Given the description of an element on the screen output the (x, y) to click on. 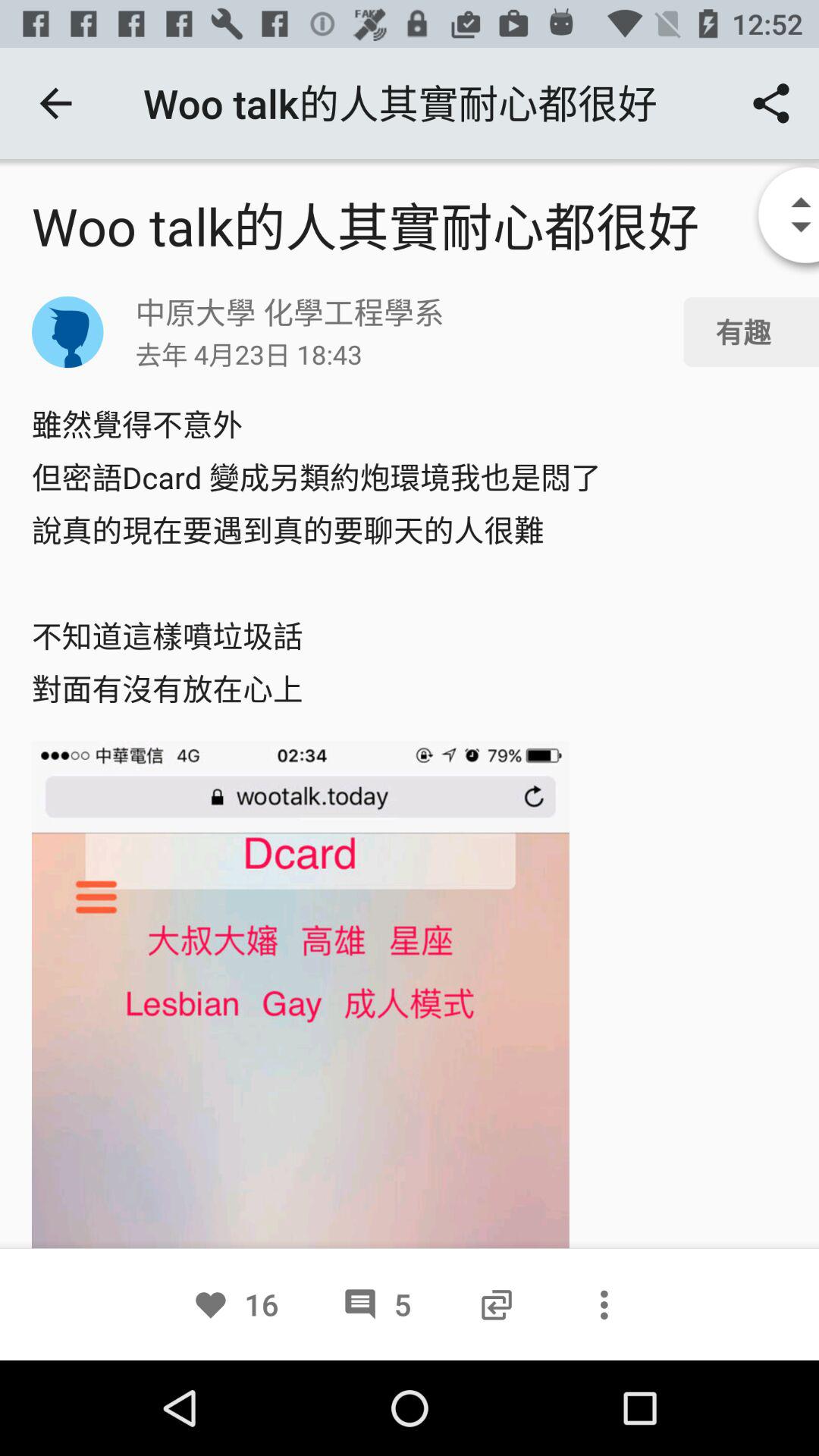
press the icon to the right of the 16 item (376, 1304)
